Given the description of an element on the screen output the (x, y) to click on. 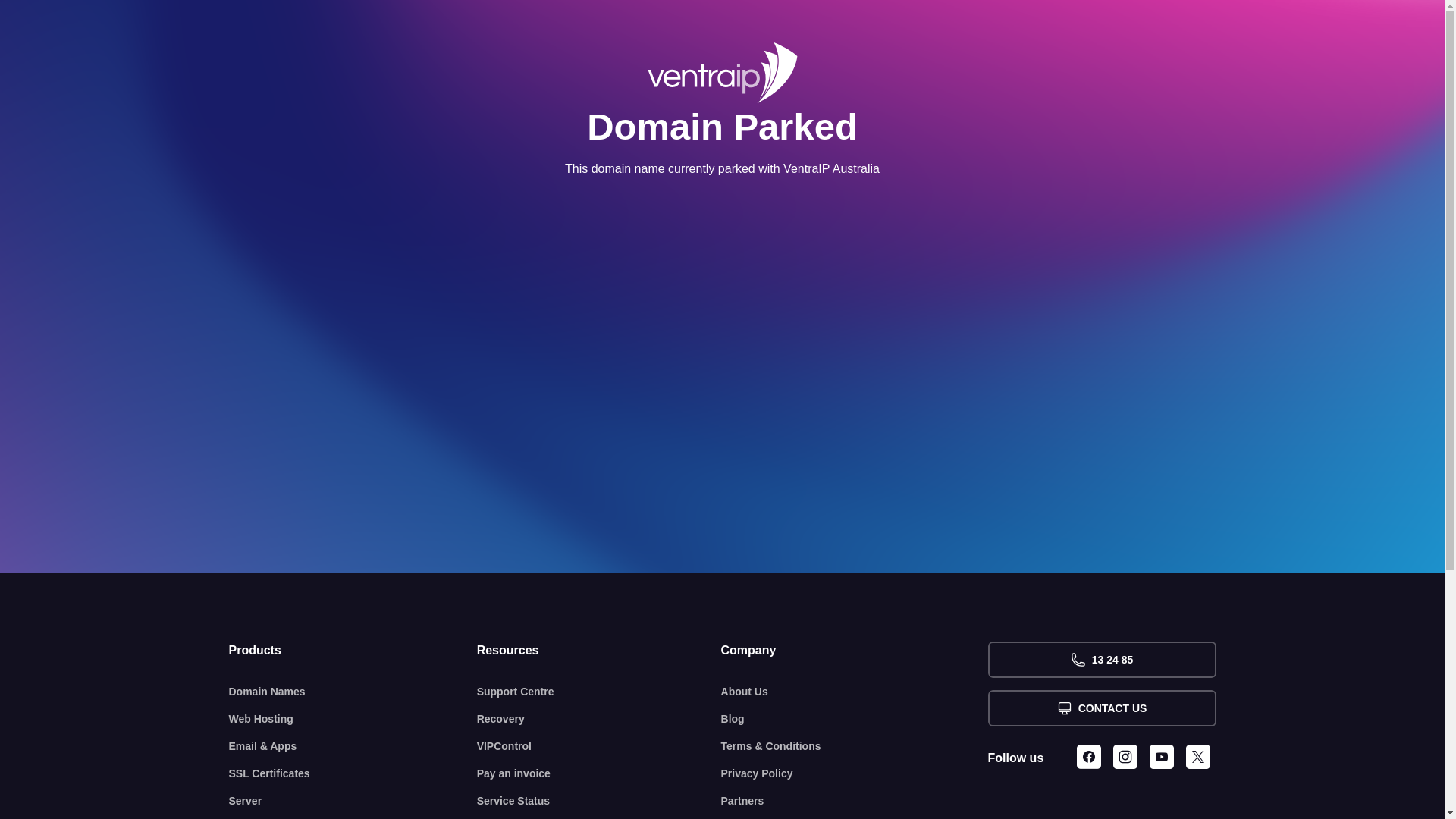
Recovery Element type: text (598, 718)
CONTACT US Element type: text (1101, 708)
Blog Element type: text (854, 718)
Pay an invoice Element type: text (598, 773)
Partners Element type: text (854, 800)
Terms & Conditions Element type: text (854, 745)
13 24 85 Element type: text (1101, 659)
Email & Apps Element type: text (352, 745)
SSL Certificates Element type: text (352, 773)
Support Centre Element type: text (598, 691)
About Us Element type: text (854, 691)
Web Hosting Element type: text (352, 718)
Privacy Policy Element type: text (854, 773)
Service Status Element type: text (598, 800)
VIPControl Element type: text (598, 745)
Server Element type: text (352, 800)
Domain Names Element type: text (352, 691)
